Given the description of an element on the screen output the (x, y) to click on. 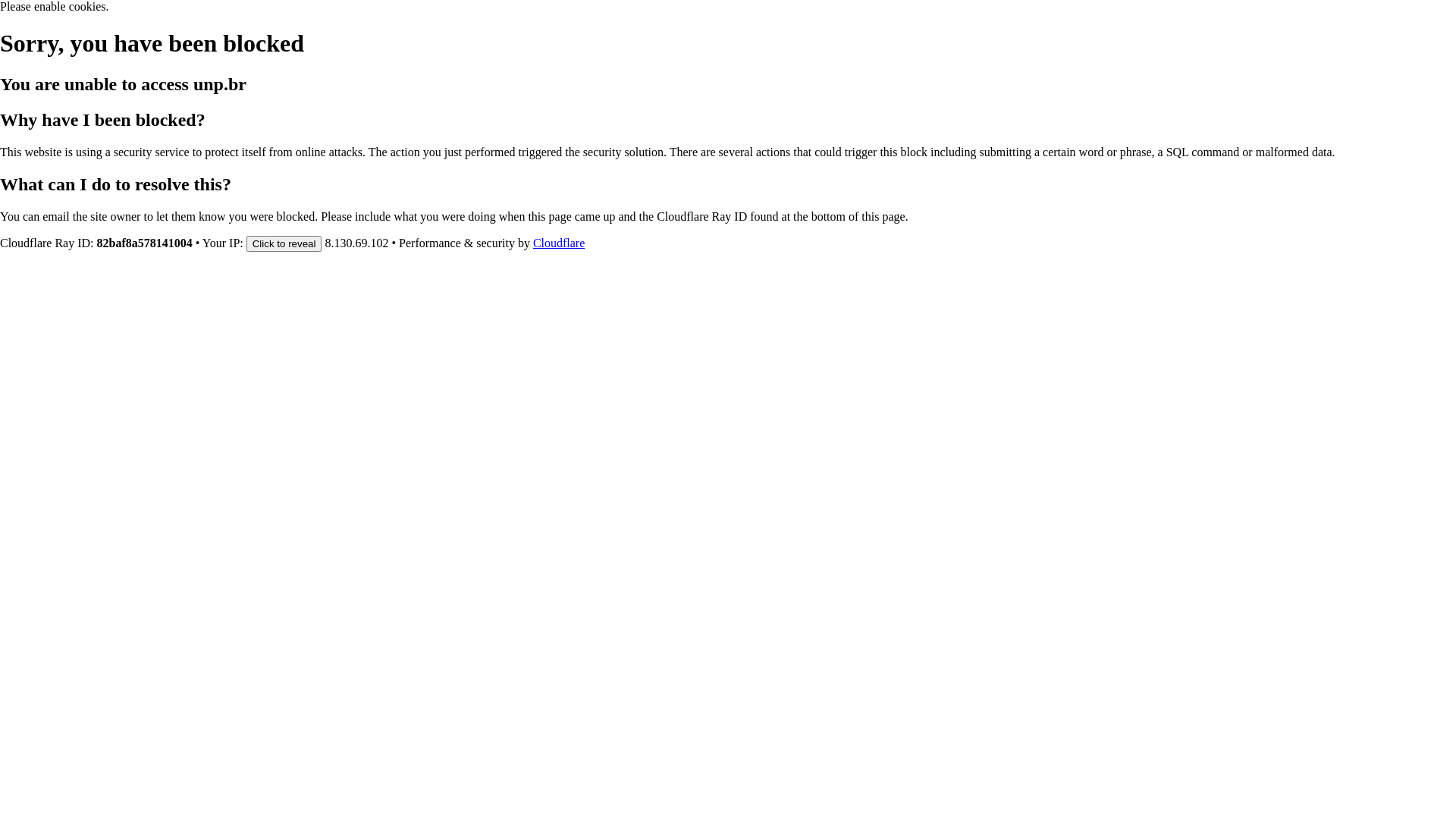
Click to reveal Element type: text (284, 243)
Cloudflare Element type: text (558, 242)
